Given the description of an element on the screen output the (x, y) to click on. 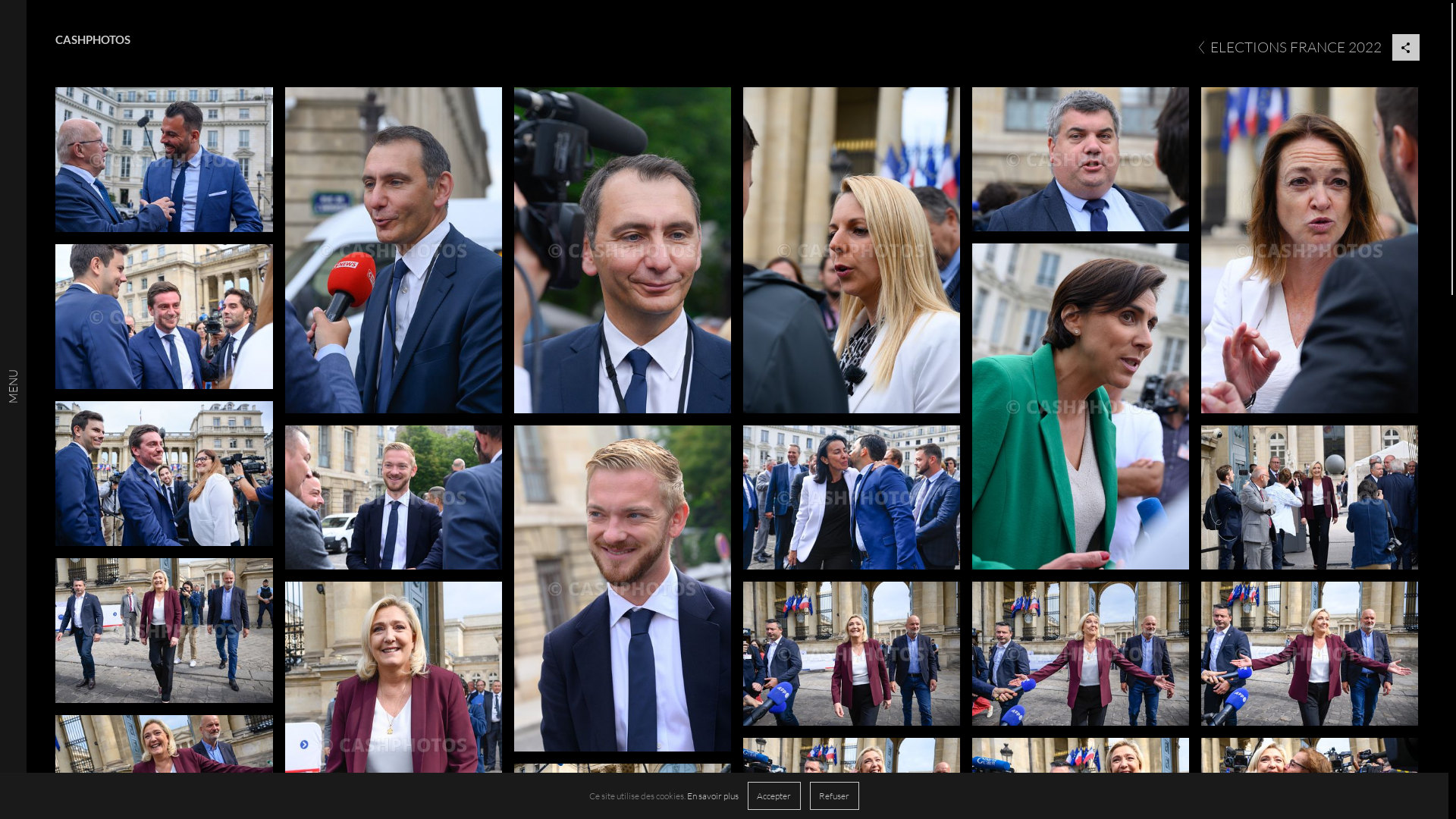
Accepter Element type: text (773, 795)
CASHPHOTOS Element type: text (92, 39)
Refuser Element type: text (834, 795)
En savoir plus Element type: text (712, 795)
